Given the description of an element on the screen output the (x, y) to click on. 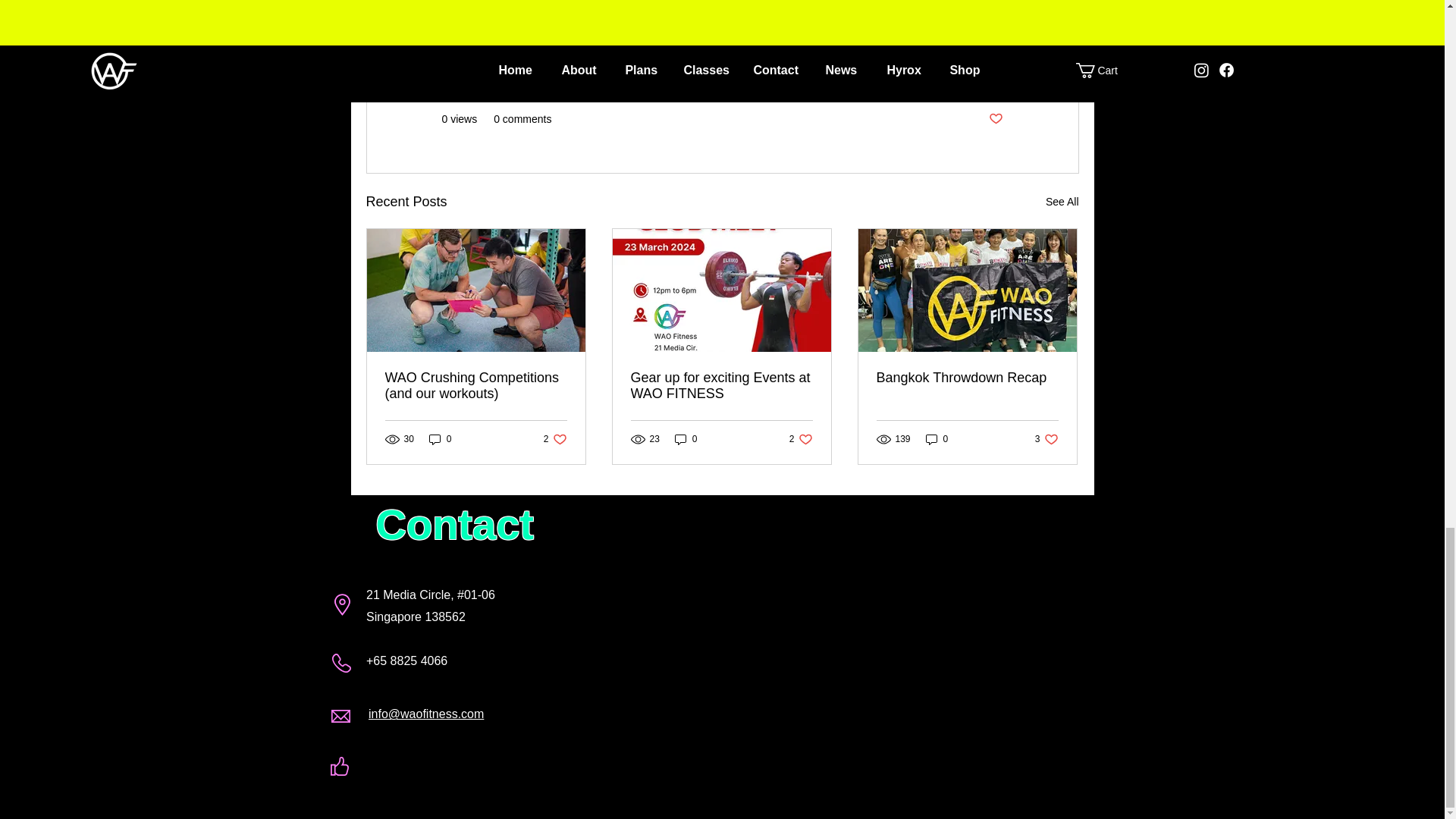
0 (440, 439)
Post not marked as liked (995, 119)
0 (685, 439)
0 (937, 439)
Gear up for exciting Events at WAO FITNESS (721, 386)
Bangkok Throwdown Recap (967, 377)
See All (1061, 201)
